Given the description of an element on the screen output the (x, y) to click on. 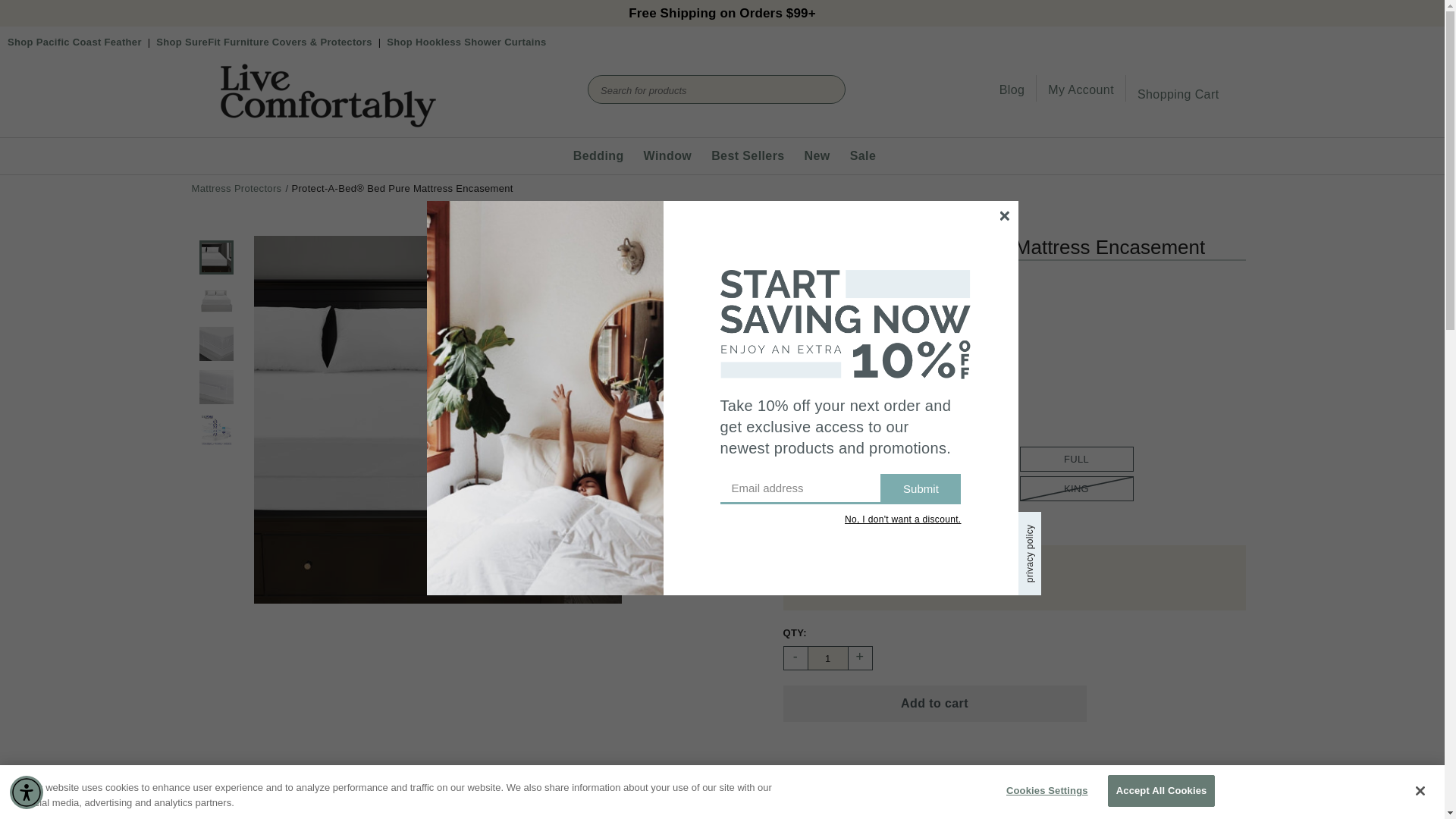
Bedding (595, 156)
Window (665, 156)
Live Comfortably (327, 127)
1 (826, 658)
User: My Account (1080, 89)
Select Size: Full (1076, 458)
size Queen 10" is not available for this combination (958, 488)
New (815, 156)
size Twin is not available for this combination (840, 458)
My Account (1080, 89)
Search (817, 84)
Best Sellers (745, 156)
Shop Hookless Shower Curtains (466, 41)
size King is not available for this combination (1076, 488)
Live Comfortably Home (327, 127)
